Given the description of an element on the screen output the (x, y) to click on. 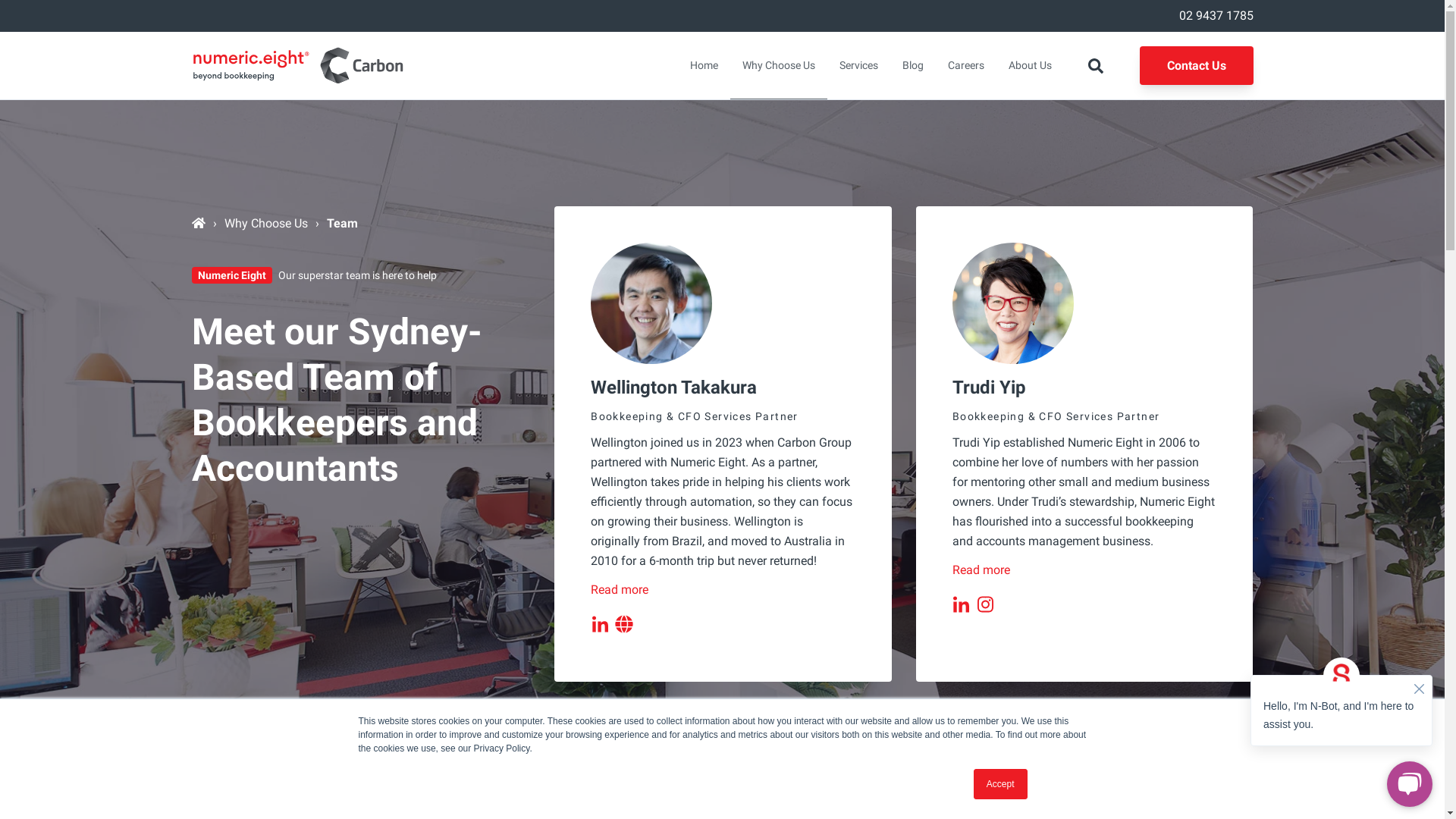
Why Choose Us Element type: text (777, 65)
Read more Element type: text (981, 569)
Contact Us Element type: text (1195, 65)
Accept Element type: text (1000, 783)
Careers Element type: text (965, 65)
Why Choose Us Element type: text (265, 223)
Home Element type: text (703, 65)
Read more Element type: text (619, 589)
About Us Element type: text (1029, 65)
Blog Element type: text (912, 65)
Numeric Eight and Carbon Logo Element type: hover (297, 64)
Services Element type: text (857, 65)
